Given the description of an element on the screen output the (x, y) to click on. 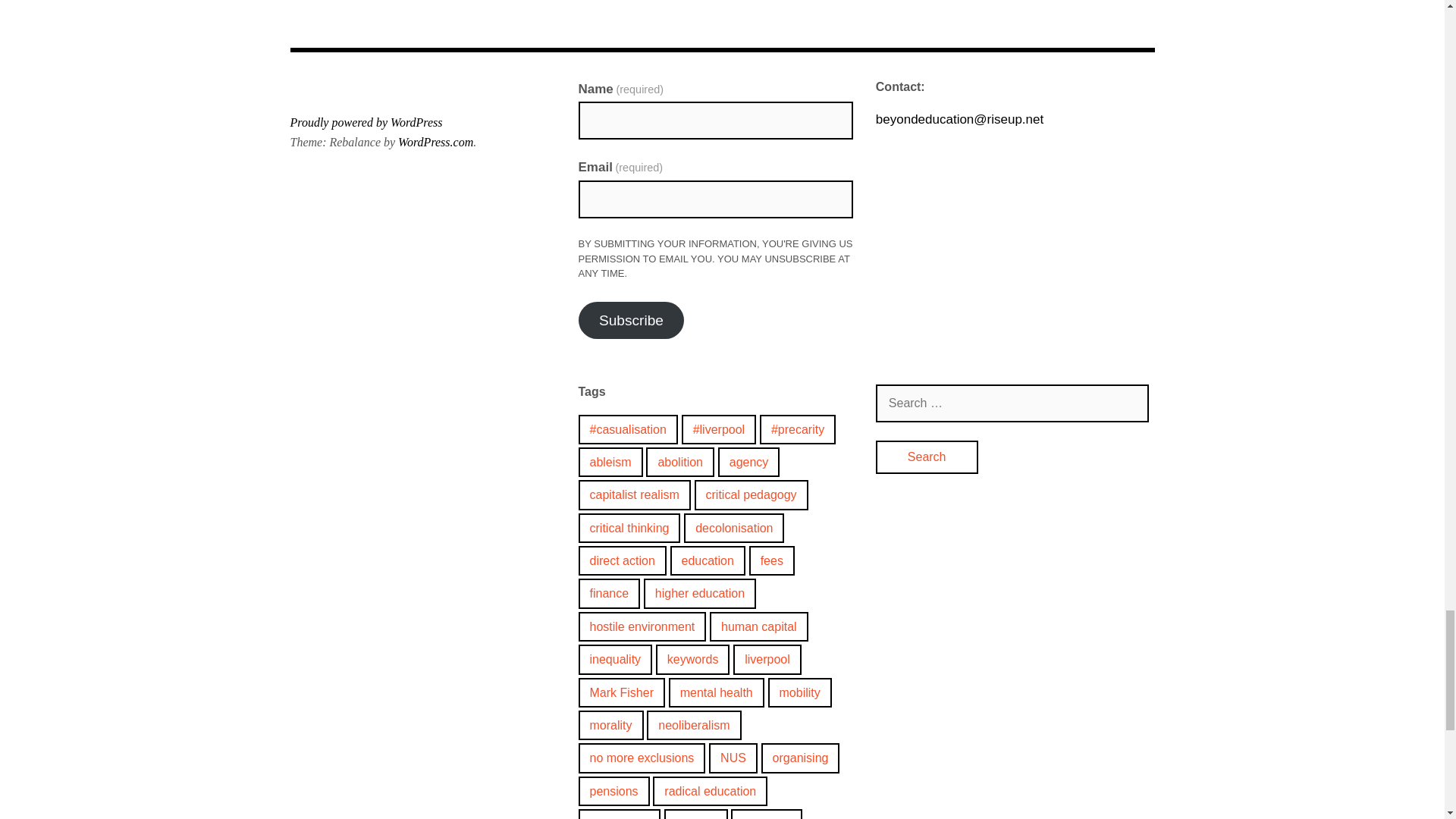
hostile environment (642, 626)
Search (927, 456)
education (707, 560)
ableism (610, 461)
critical thinking (629, 527)
Search (927, 456)
direct action (622, 560)
critical pedagogy (751, 494)
abolition (680, 461)
decolonisation (734, 527)
